Given the description of an element on the screen output the (x, y) to click on. 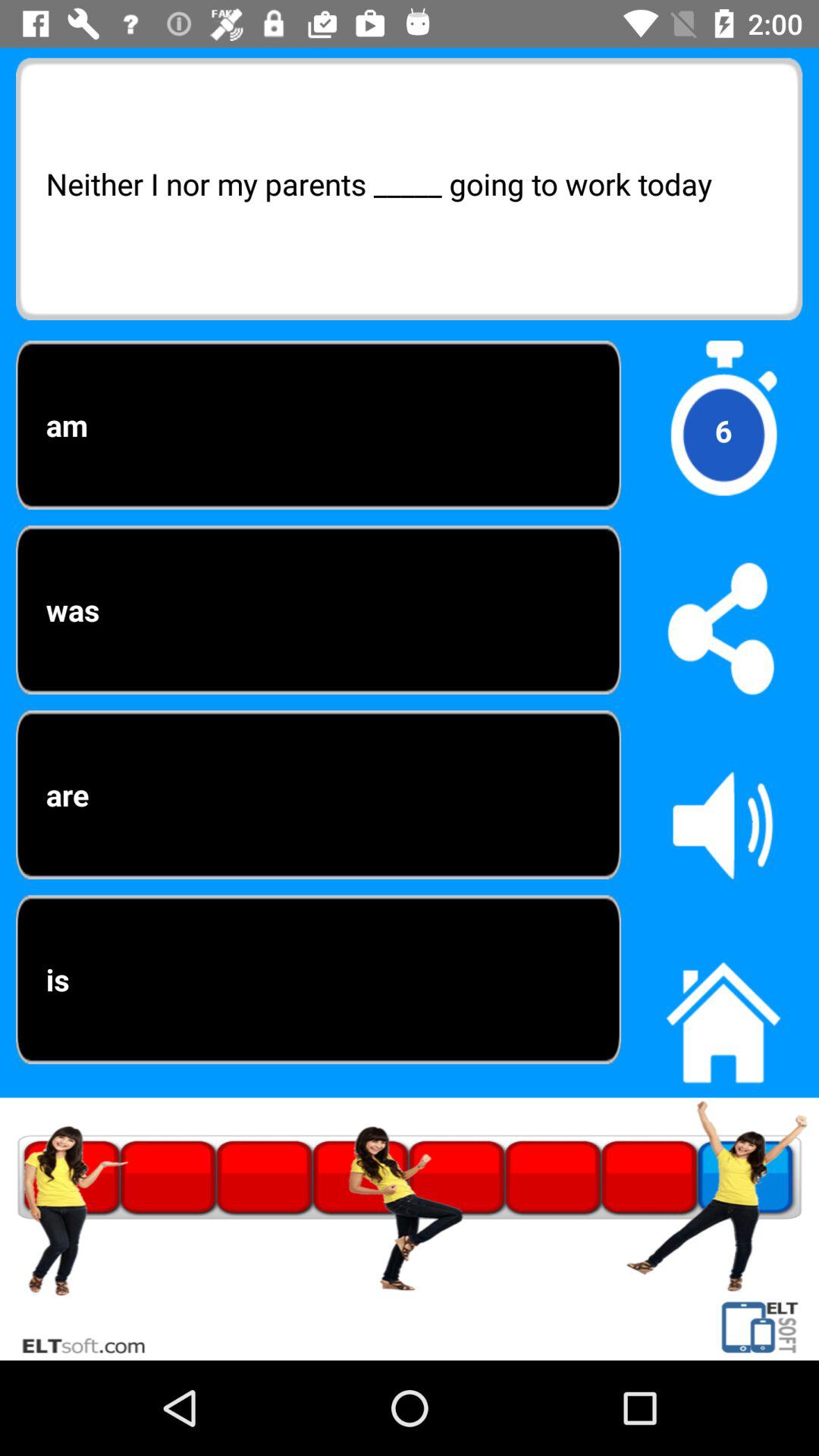
launch the was icon (318, 609)
